Given the description of an element on the screen output the (x, y) to click on. 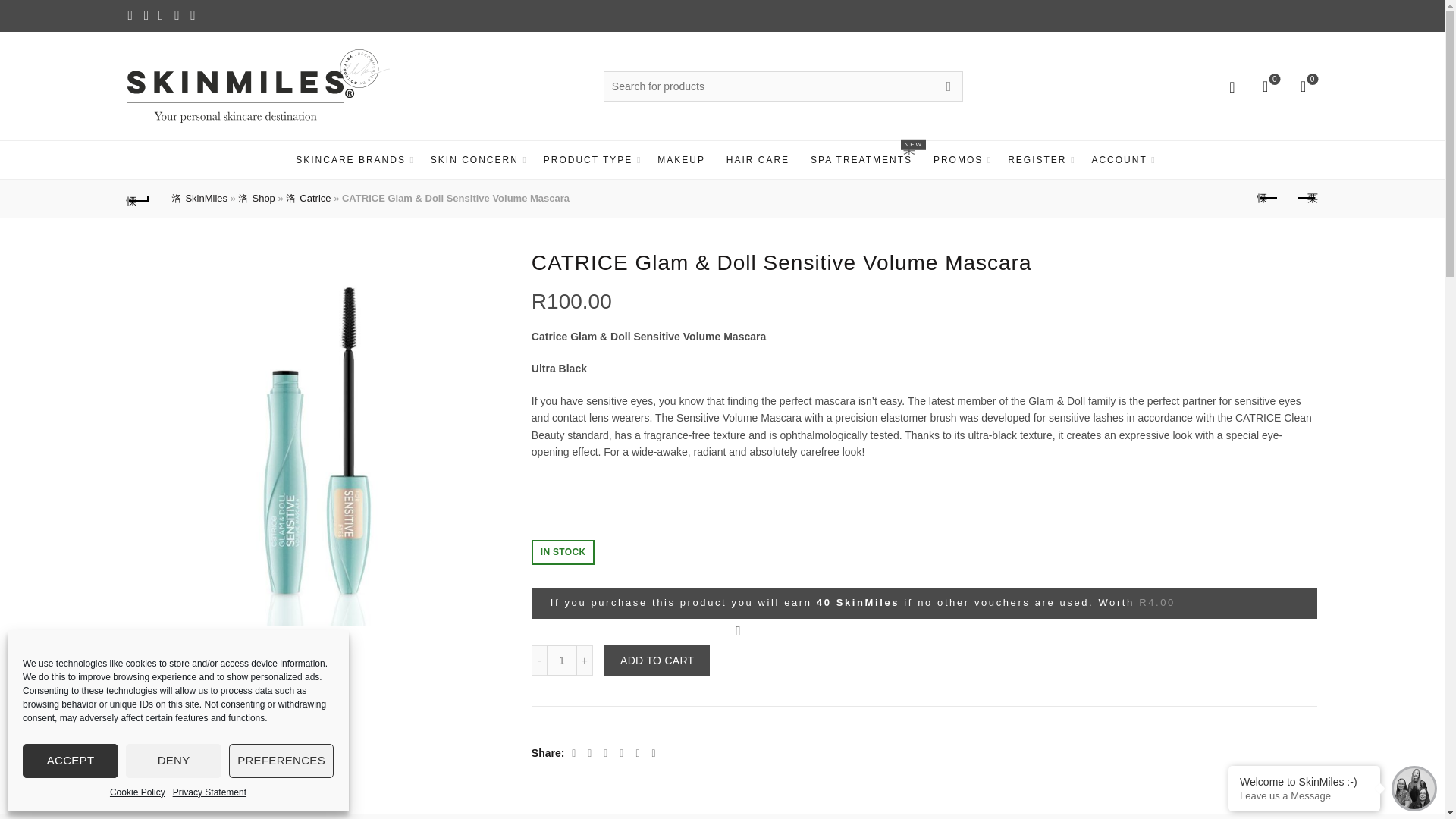
ACCEPT (70, 760)
DENY (173, 760)
1 (561, 660)
PREFERENCES (280, 760)
Cookie Policy (137, 792)
Privacy Statement (209, 792)
